Given the description of an element on the screen output the (x, y) to click on. 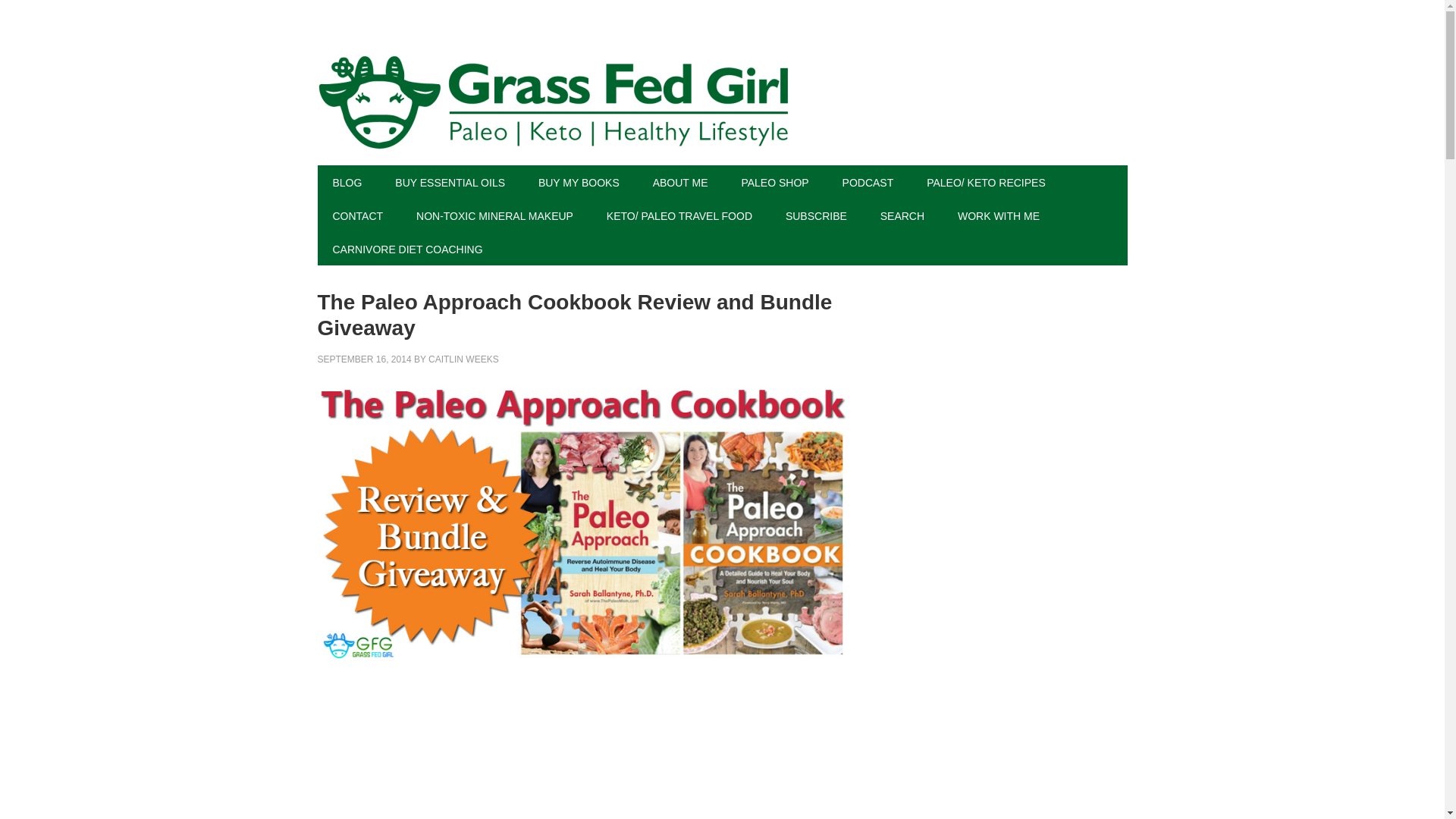
PALEO SHOP (774, 182)
BUY ESSENTIAL OILS (449, 182)
GRASS FED GIRL (721, 102)
BUY MY BOOKS (578, 182)
BLOG (347, 182)
NON-TOXIC MINERAL MAKEUP (494, 215)
CONTACT (357, 215)
ABOUT ME (680, 182)
PODCAST (867, 182)
Where to Buy Paleo Foods Online (774, 182)
